Given the description of an element on the screen output the (x, y) to click on. 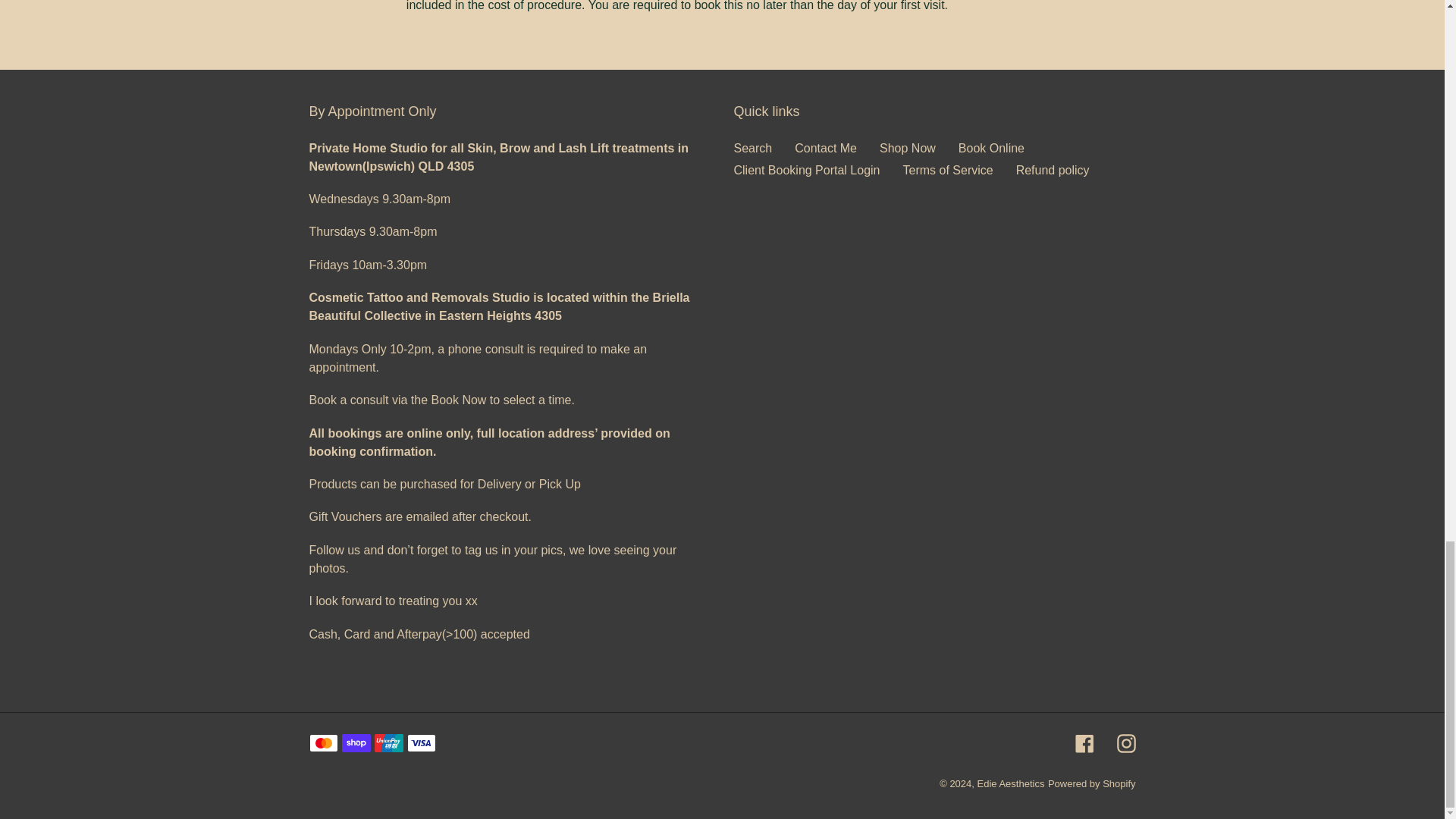
Edie Aesthetics (1010, 783)
Book Online (991, 147)
Contact Me (825, 147)
Shop Now (907, 147)
Terms of Service (947, 169)
Powered by Shopify (1091, 783)
Refund policy (1052, 169)
Search (753, 147)
Client Booking Portal Login (806, 169)
Facebook (1084, 742)
Instagram (1125, 742)
